Given the description of an element on the screen output the (x, y) to click on. 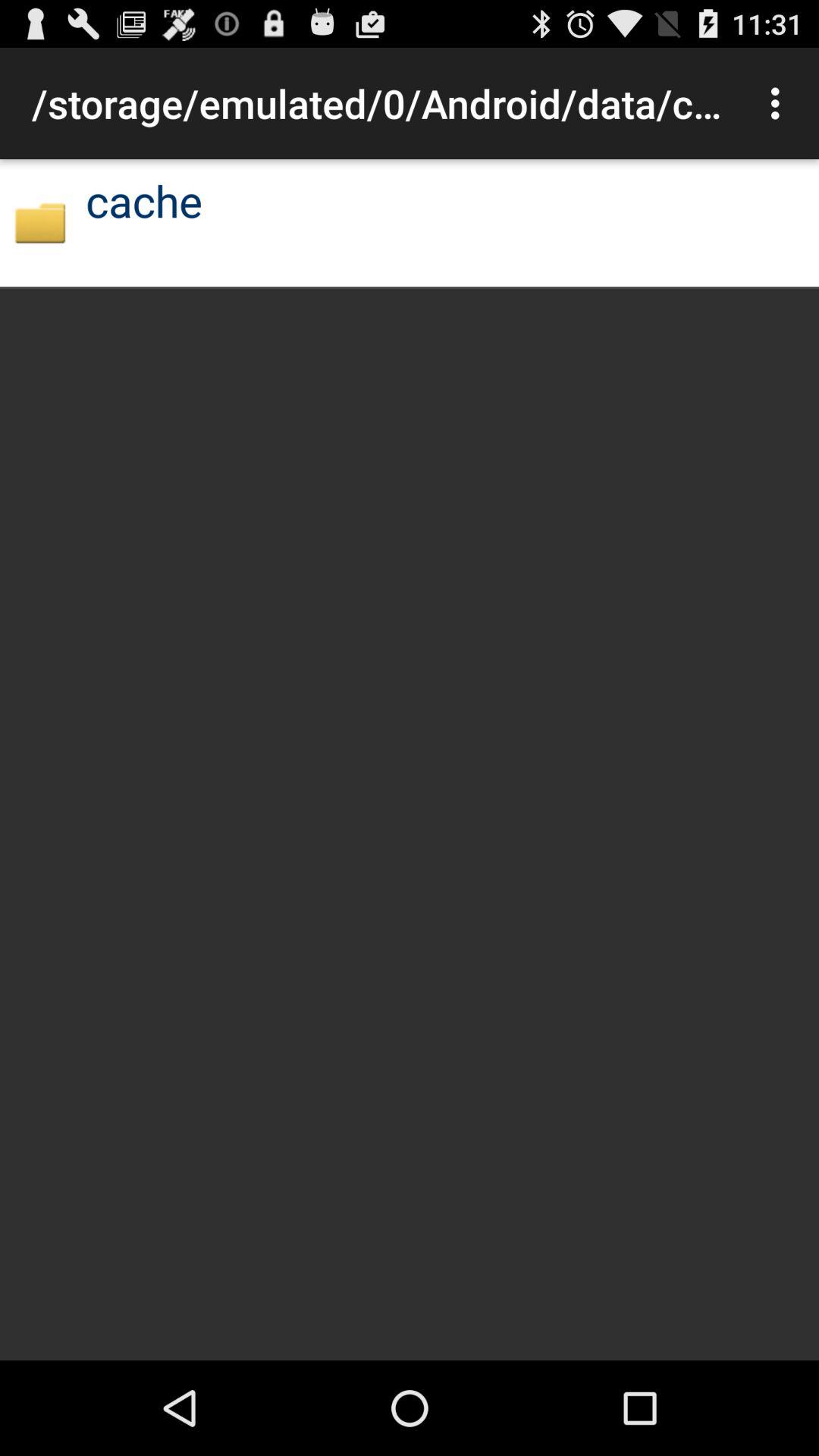
flip until cache icon (143, 200)
